Given the description of an element on the screen output the (x, y) to click on. 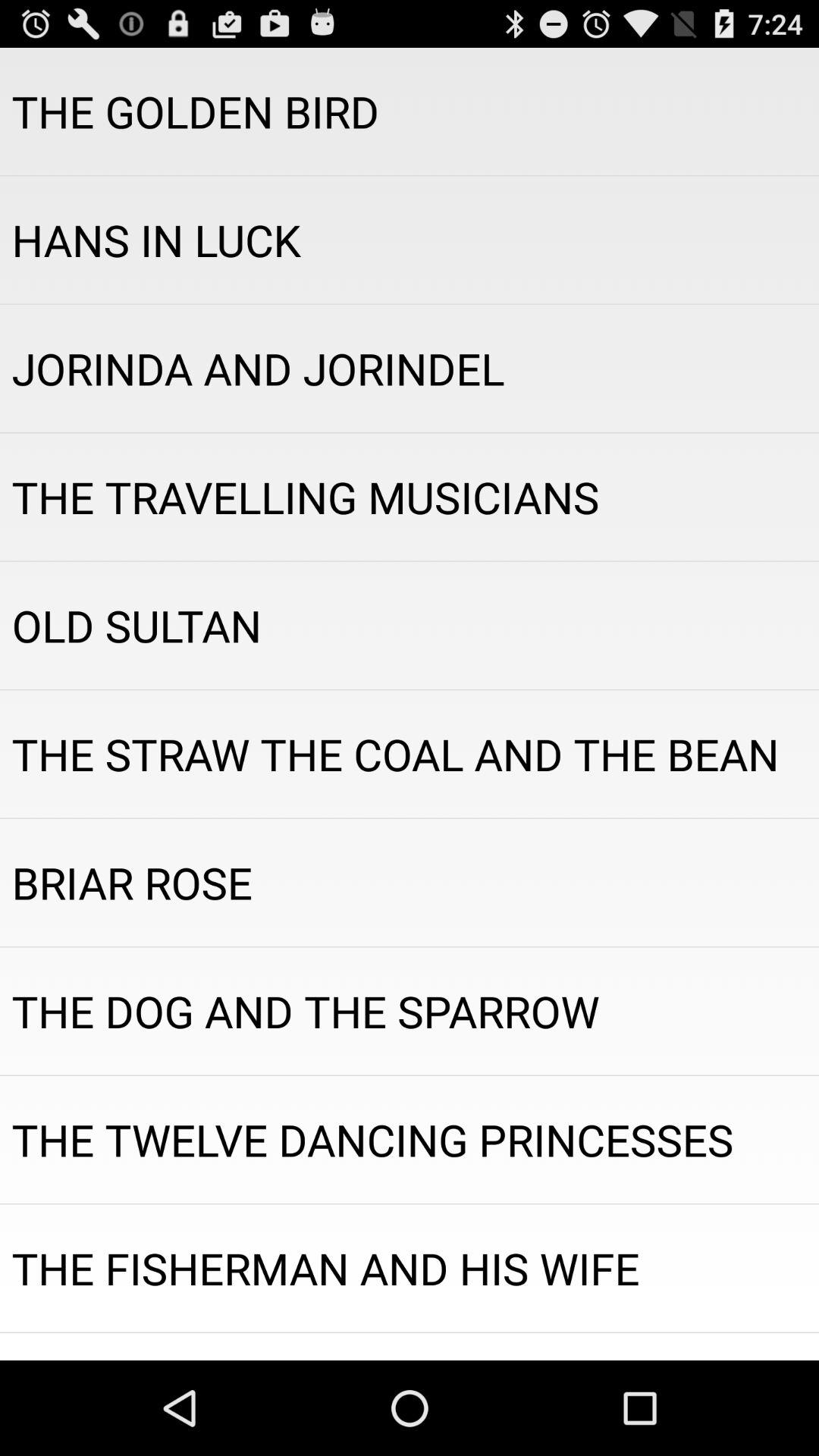
choose icon above the briar rose app (409, 753)
